Given the description of an element on the screen output the (x, y) to click on. 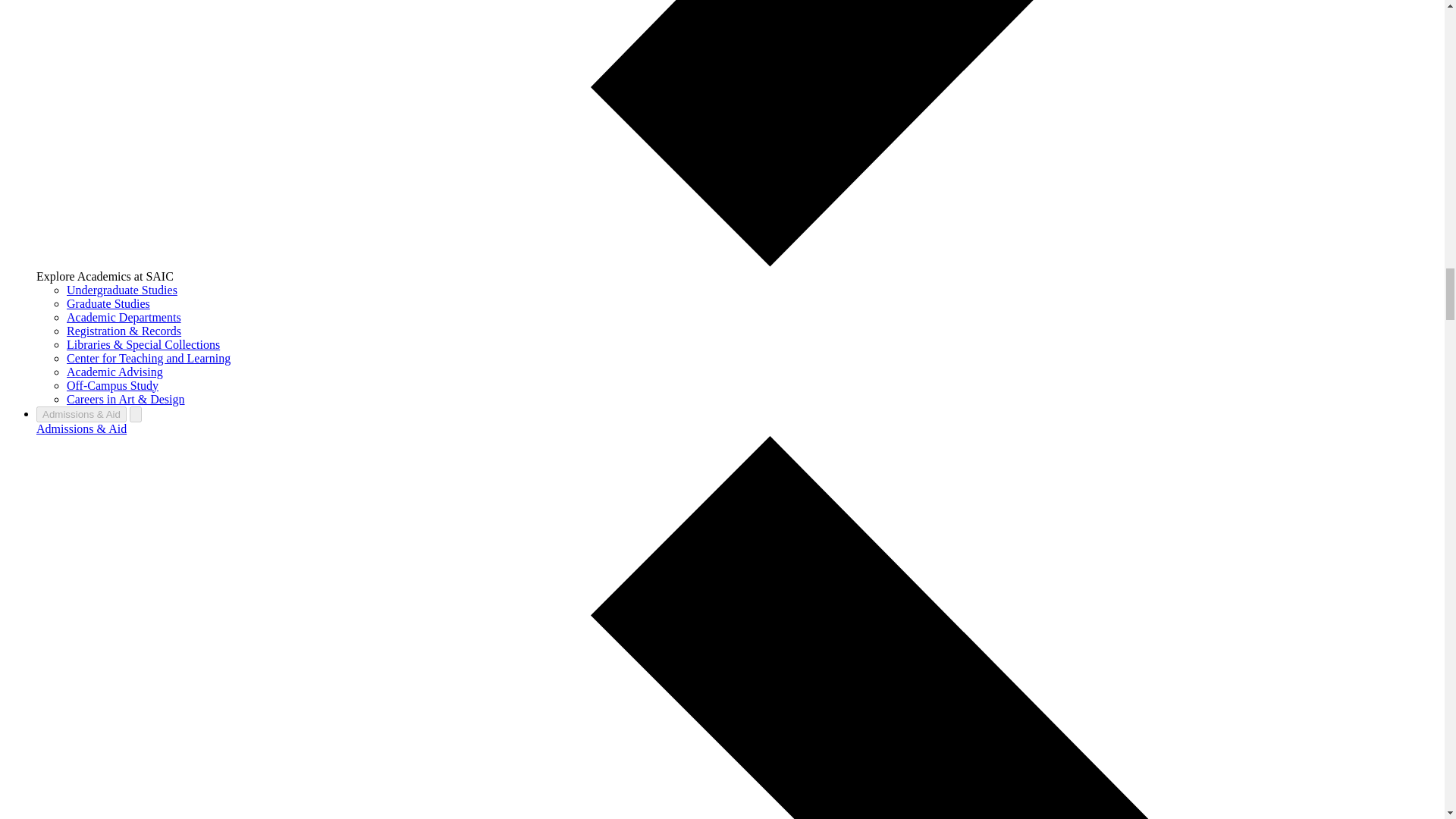
Off-Campus Study (112, 385)
Academic Departments (123, 317)
Graduate Studies (107, 303)
Center for Teaching and Learning (148, 358)
Academic Advising (114, 371)
Undergraduate Studies (121, 289)
